Given the description of an element on the screen output the (x, y) to click on. 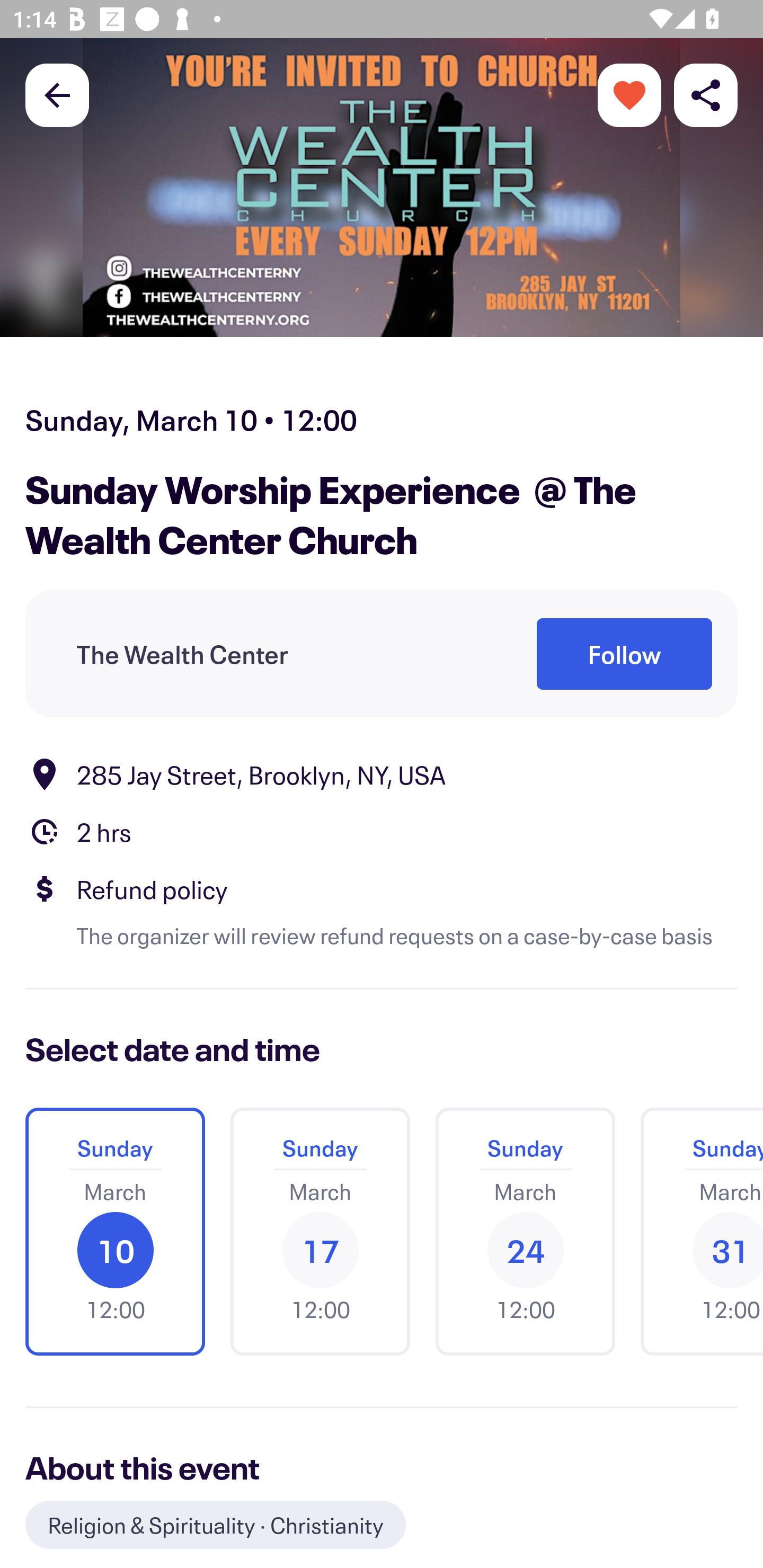
Search for… (381, 88)
